Given the description of an element on the screen output the (x, y) to click on. 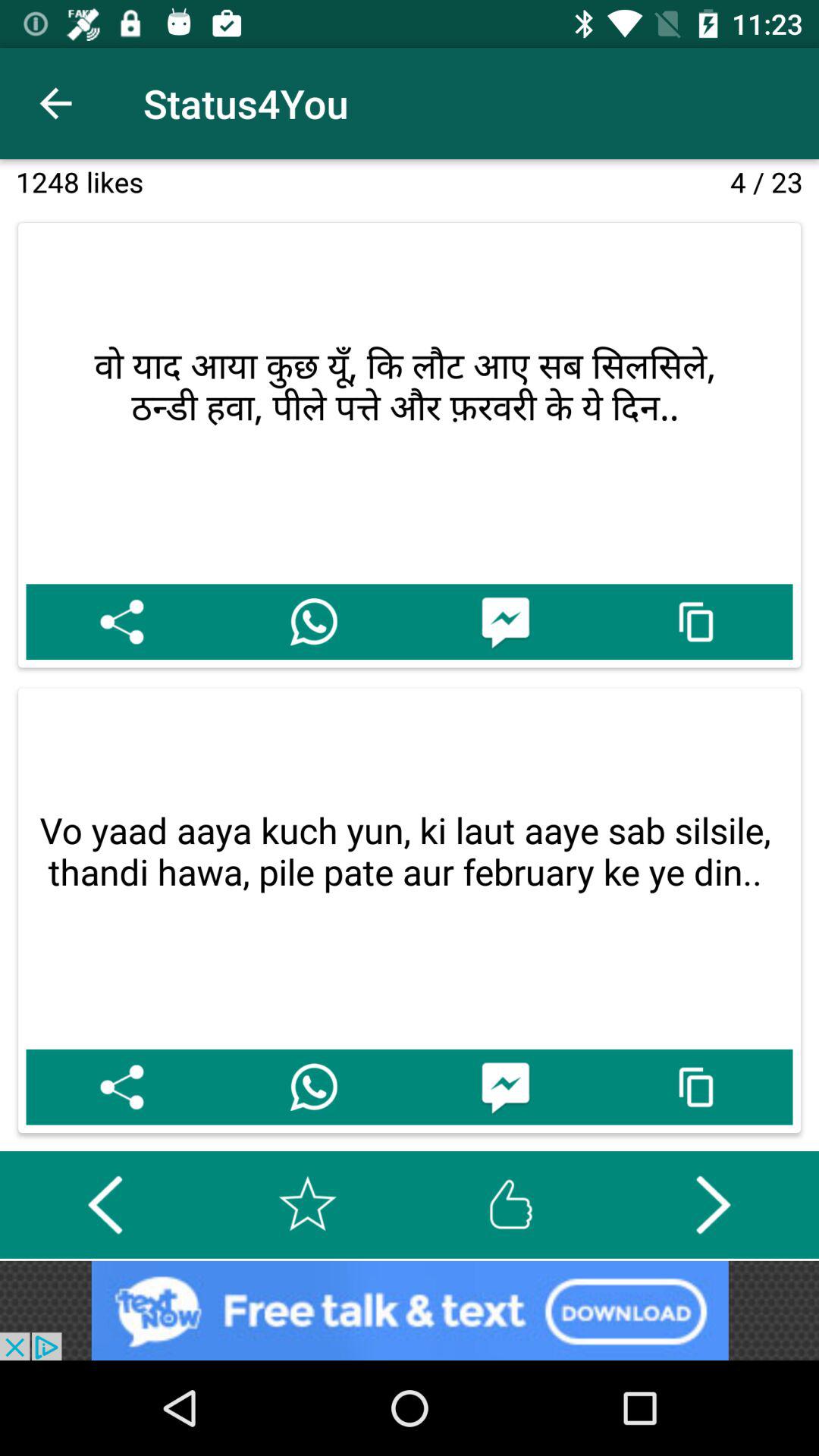
share (121, 1086)
